Given the description of an element on the screen output the (x, y) to click on. 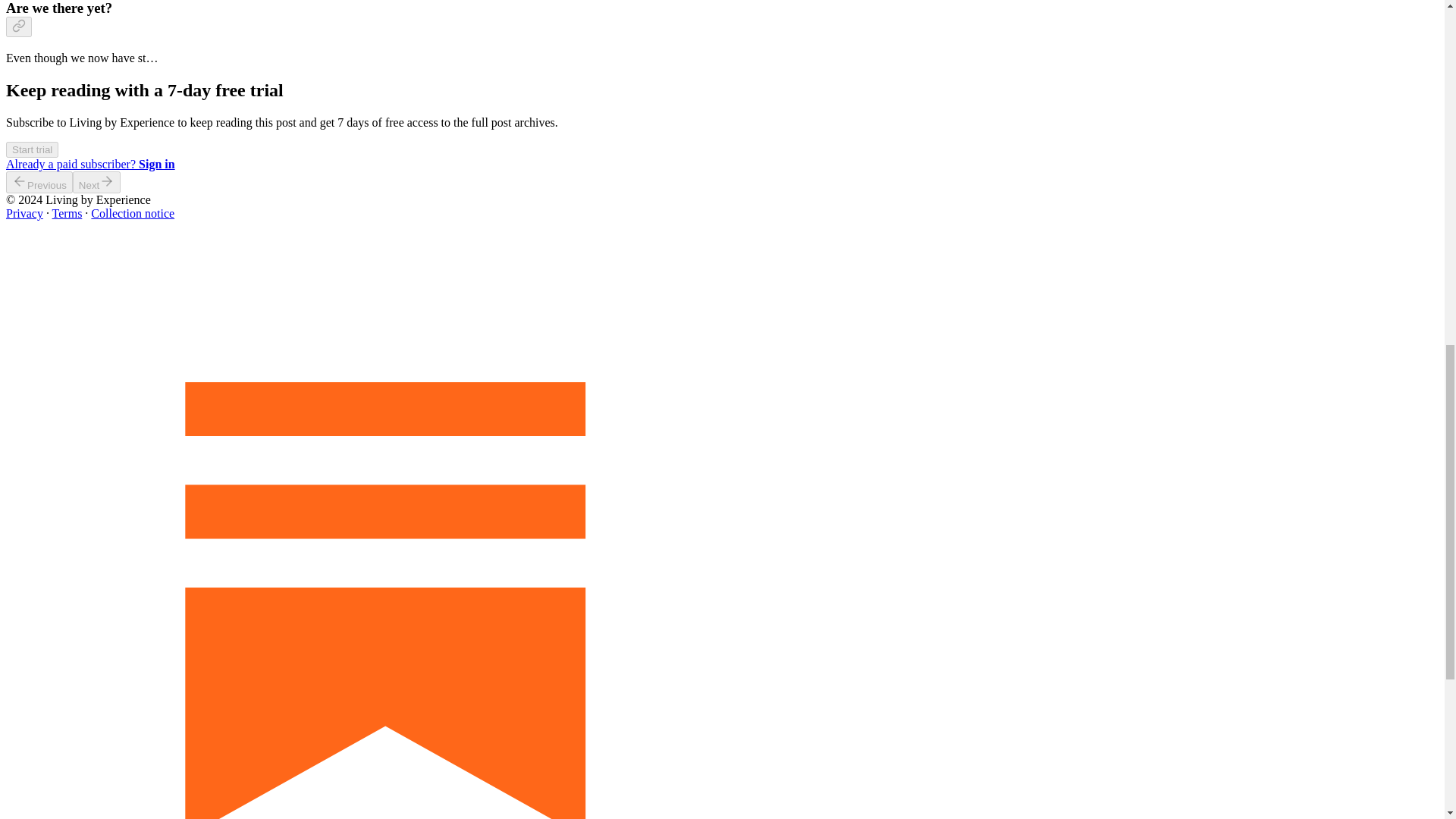
Next (96, 182)
Already a paid subscriber? Sign in (89, 164)
Start trial (31, 149)
Terms (67, 213)
Collection notice (132, 213)
Previous (38, 182)
Privacy (24, 213)
Start trial (31, 148)
